Given the description of an element on the screen output the (x, y) to click on. 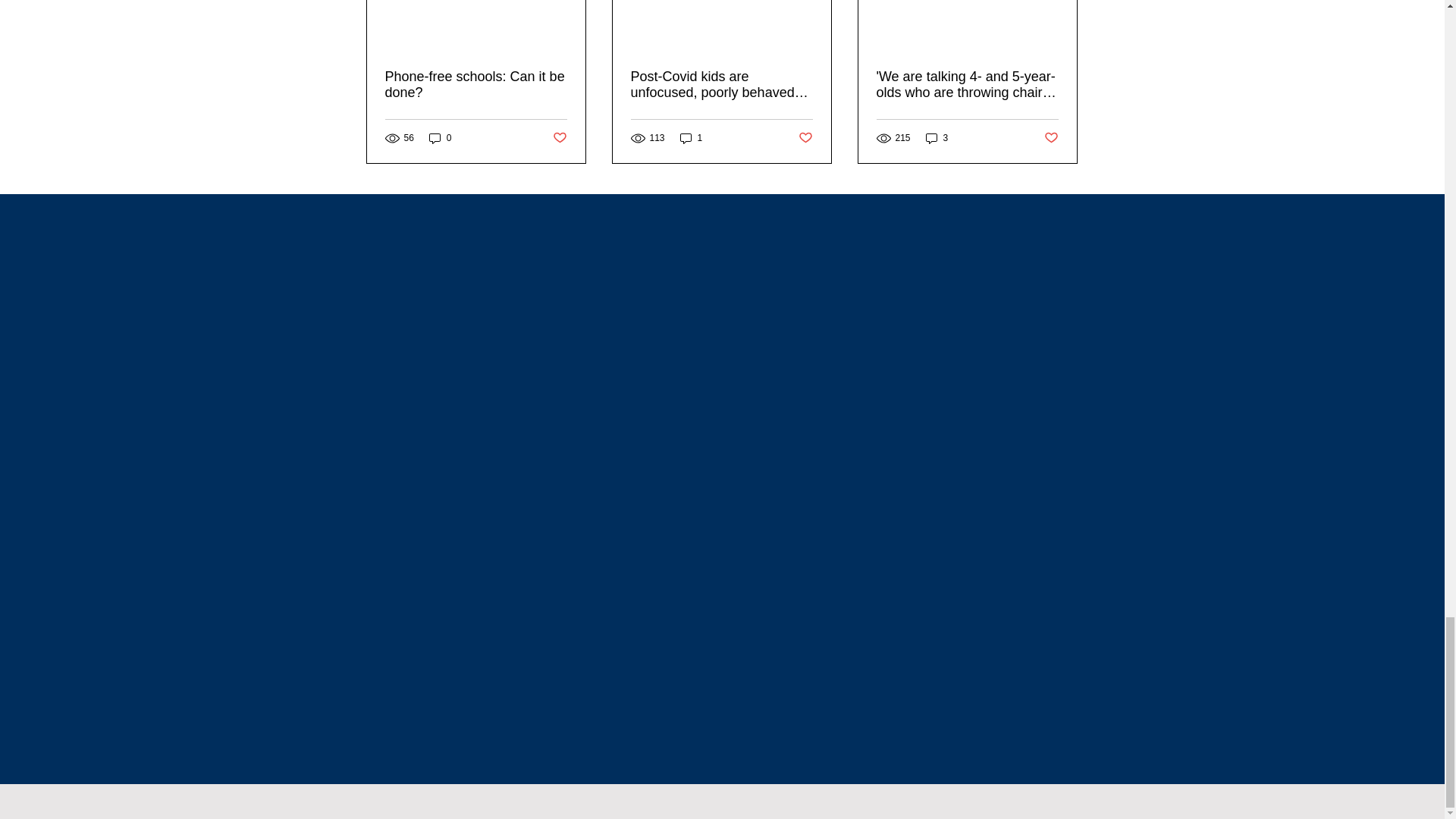
Phone-free schools: Can it be done? (476, 84)
Post not marked as liked (558, 137)
0 (440, 138)
